Given the description of an element on the screen output the (x, y) to click on. 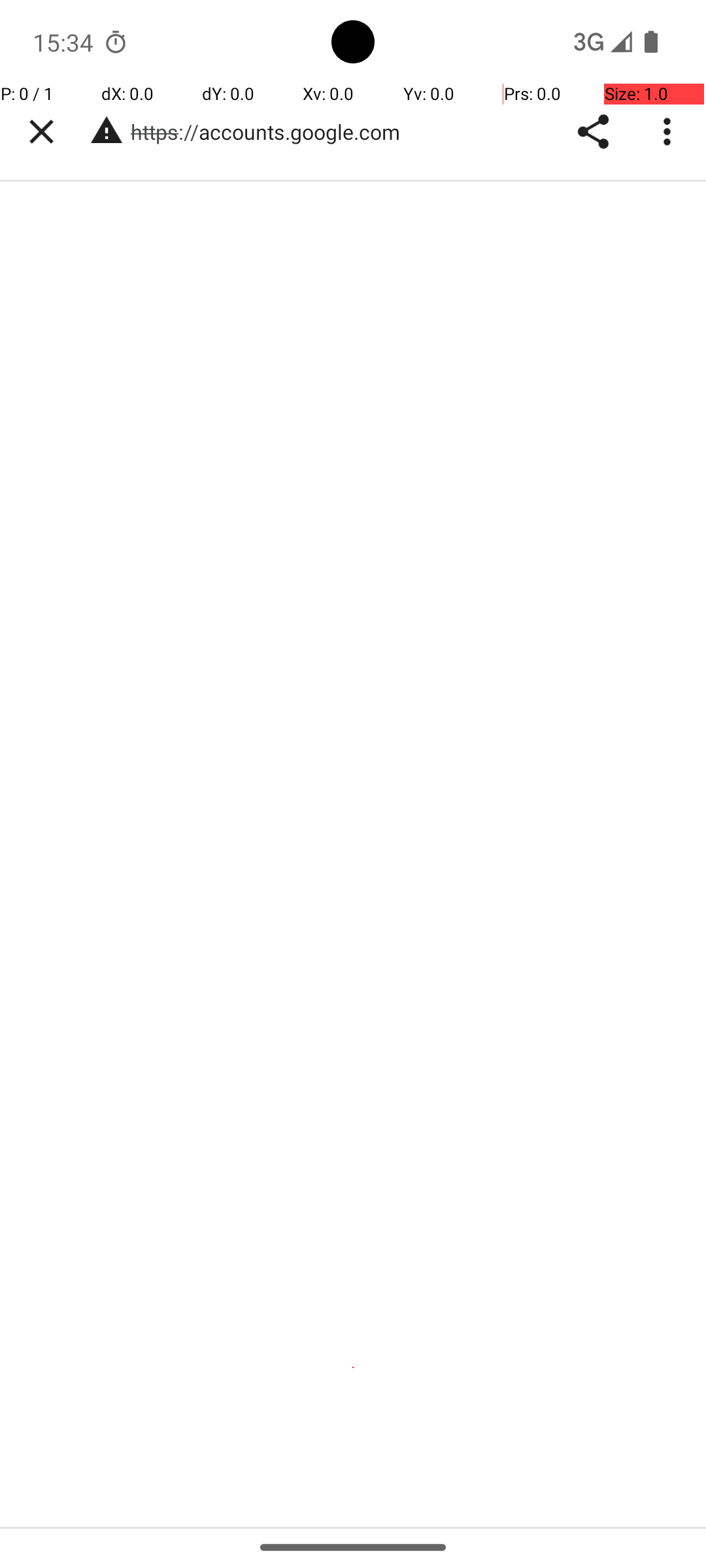
https://accounts.google.com Element type: android.widget.TextView (271, 131)
accounts.google.com Element type: android.widget.TextView (160, 653)
